Given the description of an element on the screen output the (x, y) to click on. 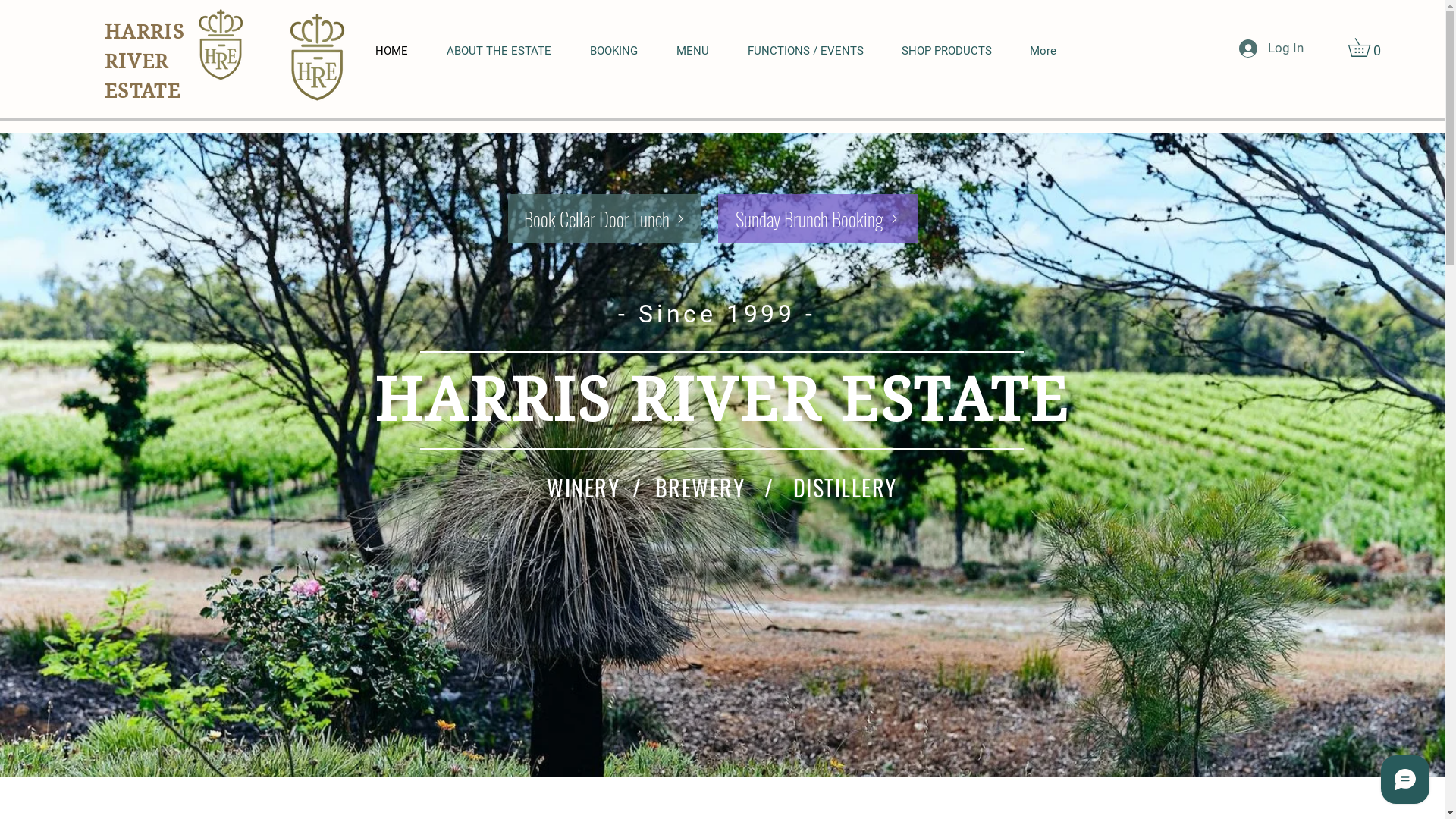
Sunday Brunch Booking Element type: text (816, 218)
FUNCTIONS / EVENTS Element type: text (812, 50)
SHOP PRODUCTS Element type: text (954, 50)
HARRIS Element type: text (144, 31)
Log In Element type: text (1271, 48)
0 Element type: text (1367, 46)
BOOKING Element type: text (620, 50)
HOME Element type: text (399, 50)
ESTATE Element type: text (142, 90)
ABOUT THE ESTATE Element type: text (506, 50)
MENU Element type: text (699, 50)
RIVER Element type: text (136, 61)
Book Cellar Door Lunch Element type: text (604, 218)
